Given the description of an element on the screen output the (x, y) to click on. 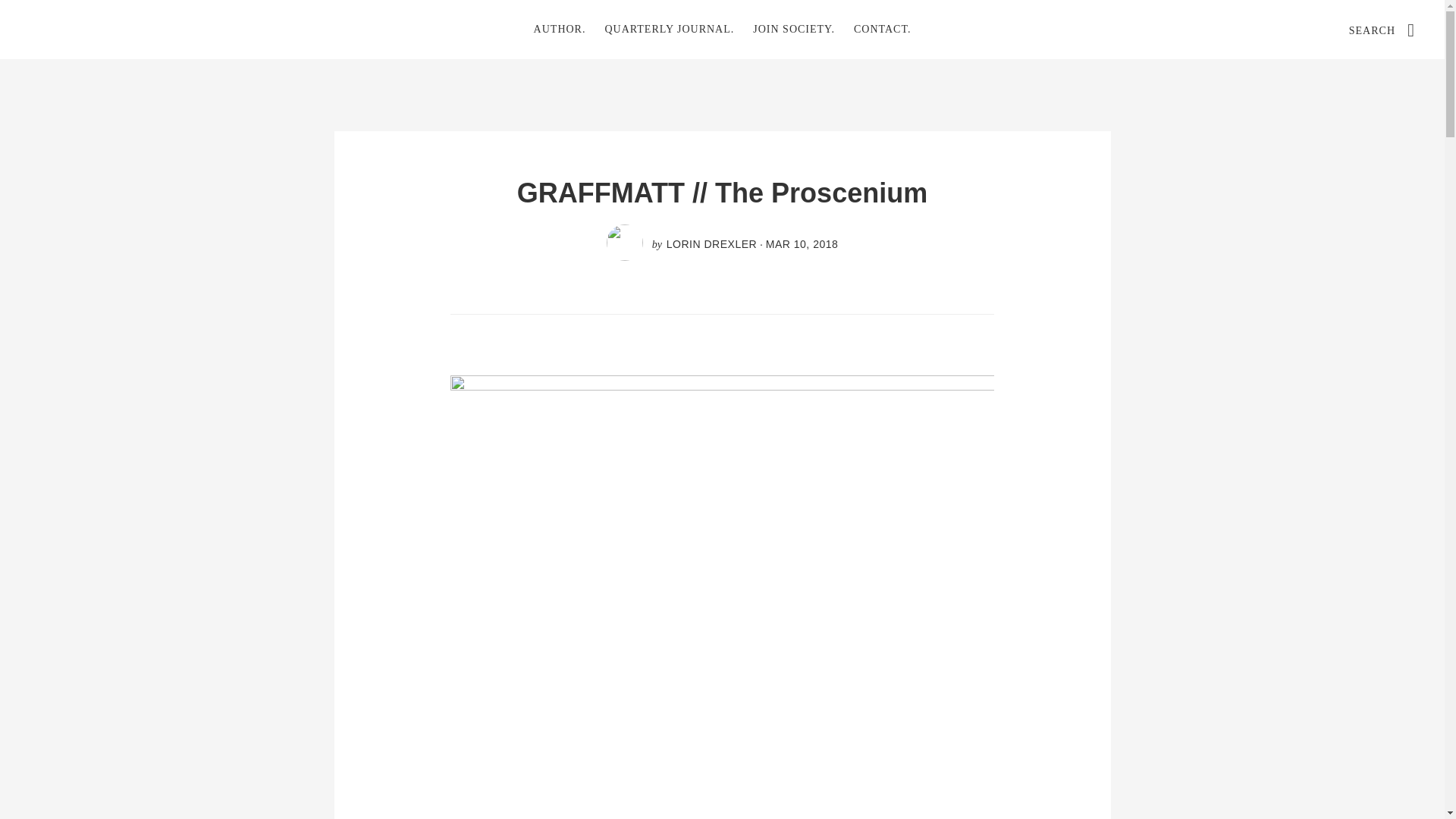
GEN SOCIETY (143, 28)
QUARTERLY JOURNAL. (668, 29)
LORIN DREXLER (711, 244)
JOIN SOCIETY. (794, 29)
AUTHOR. (559, 29)
CONTACT. (881, 29)
